Given the description of an element on the screen output the (x, y) to click on. 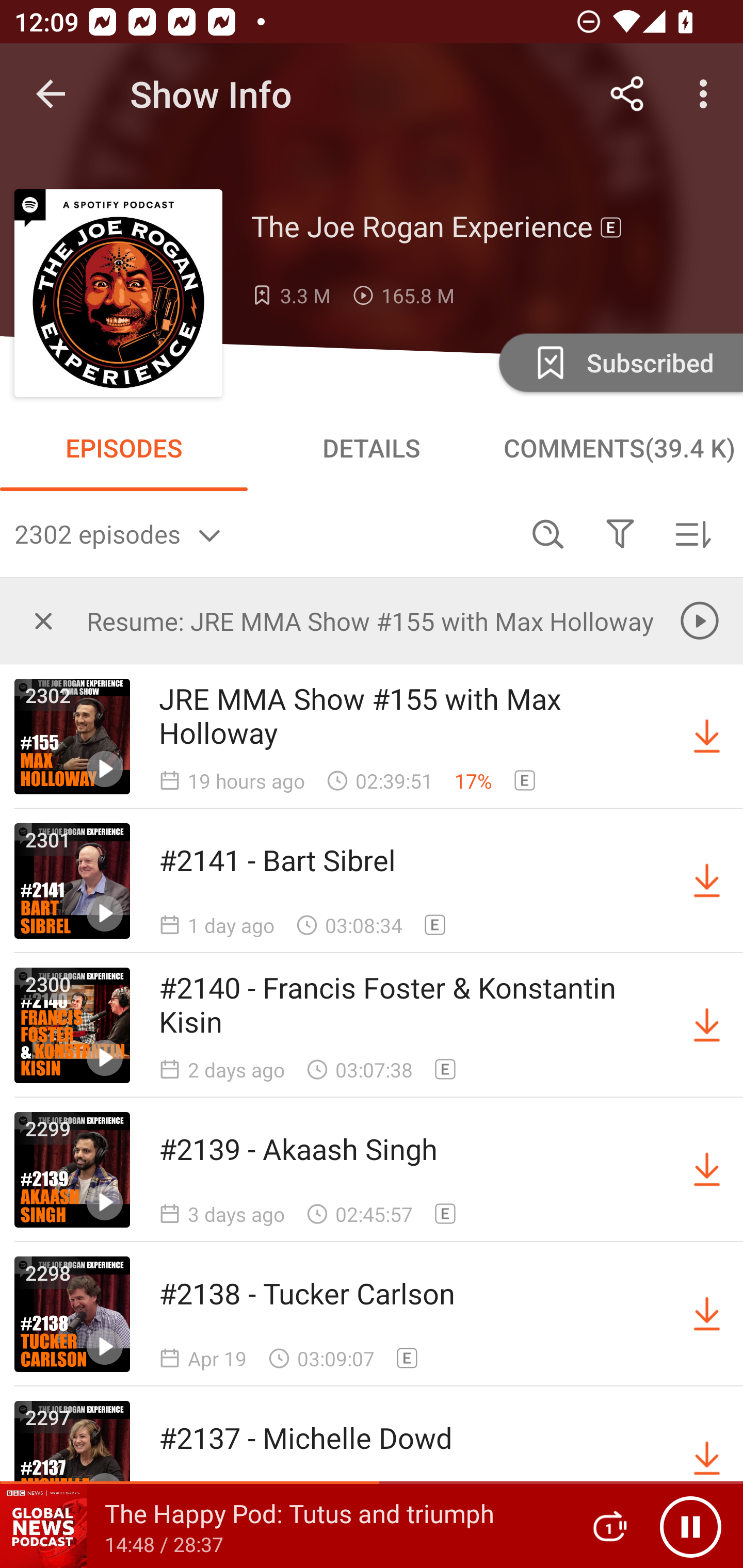
Navigate up (50, 93)
Share (626, 93)
More options (706, 93)
Unsubscribe Subscribed (619, 361)
EPISODES (123, 447)
DETAILS (371, 447)
COMMENTS(39.4 K) (619, 447)
2302 episodes  (262, 533)
 Search (547, 533)
 (619, 533)
 Sorted by newest first (692, 533)
 (43, 620)
Download (706, 736)
Download (706, 881)
Download (706, 1025)
Download (706, 1169)
Download (706, 1313)
Download (706, 1458)
The Happy Pod: Tutus and triumph 14:48 / 28:37 (283, 1525)
Pause (690, 1526)
